Given the description of an element on the screen output the (x, y) to click on. 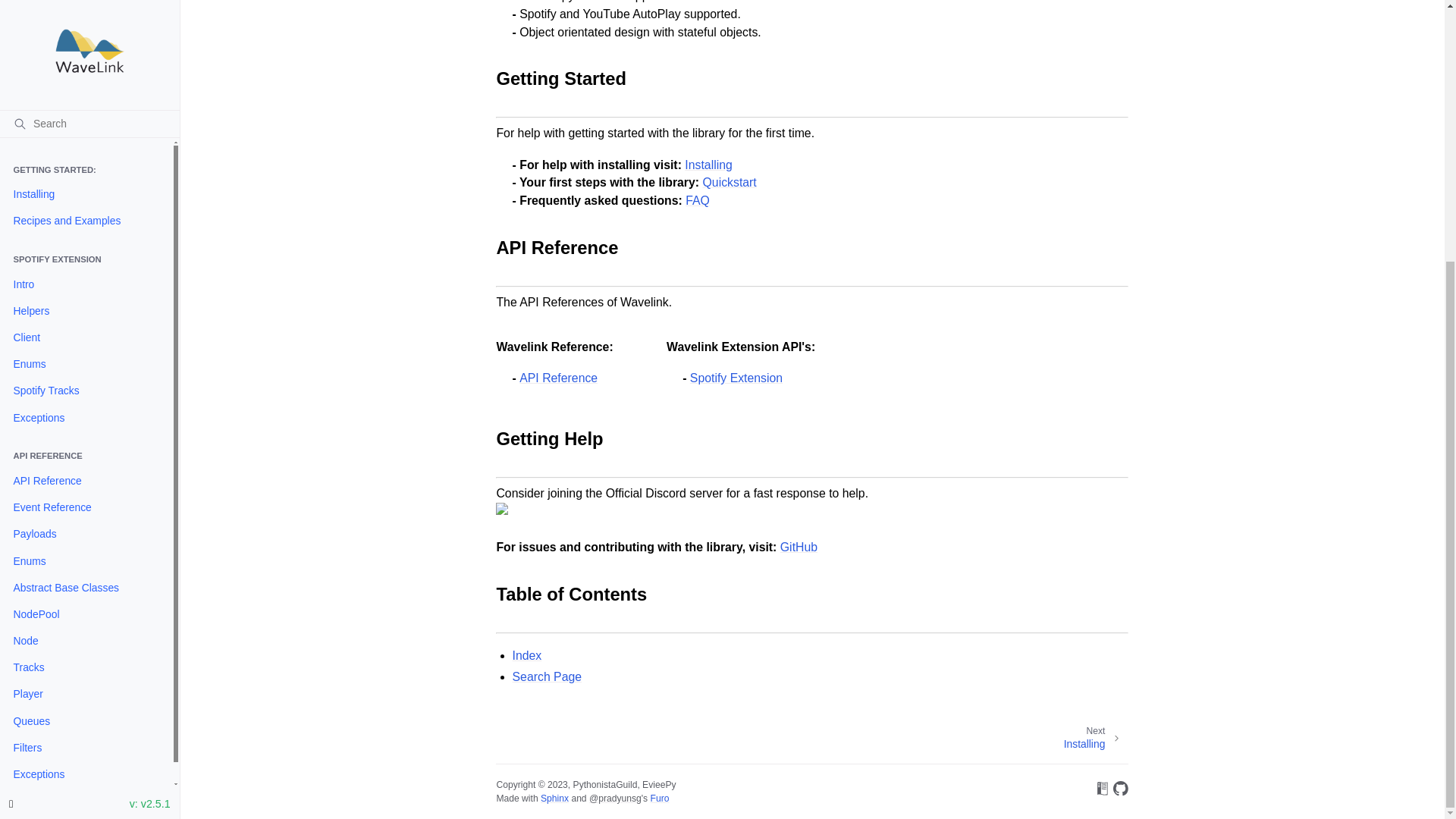
Exceptions (85, 42)
NodePool (85, 239)
Enums (85, 1)
API Reference (85, 105)
Player (85, 319)
Enums (85, 185)
Node (85, 265)
Exceptions (85, 398)
Abstract Base Classes (85, 212)
Event Reference (85, 131)
Queues (85, 345)
Payloads (85, 159)
Filters (85, 372)
Spotify Tracks (85, 16)
